Given the description of an element on the screen output the (x, y) to click on. 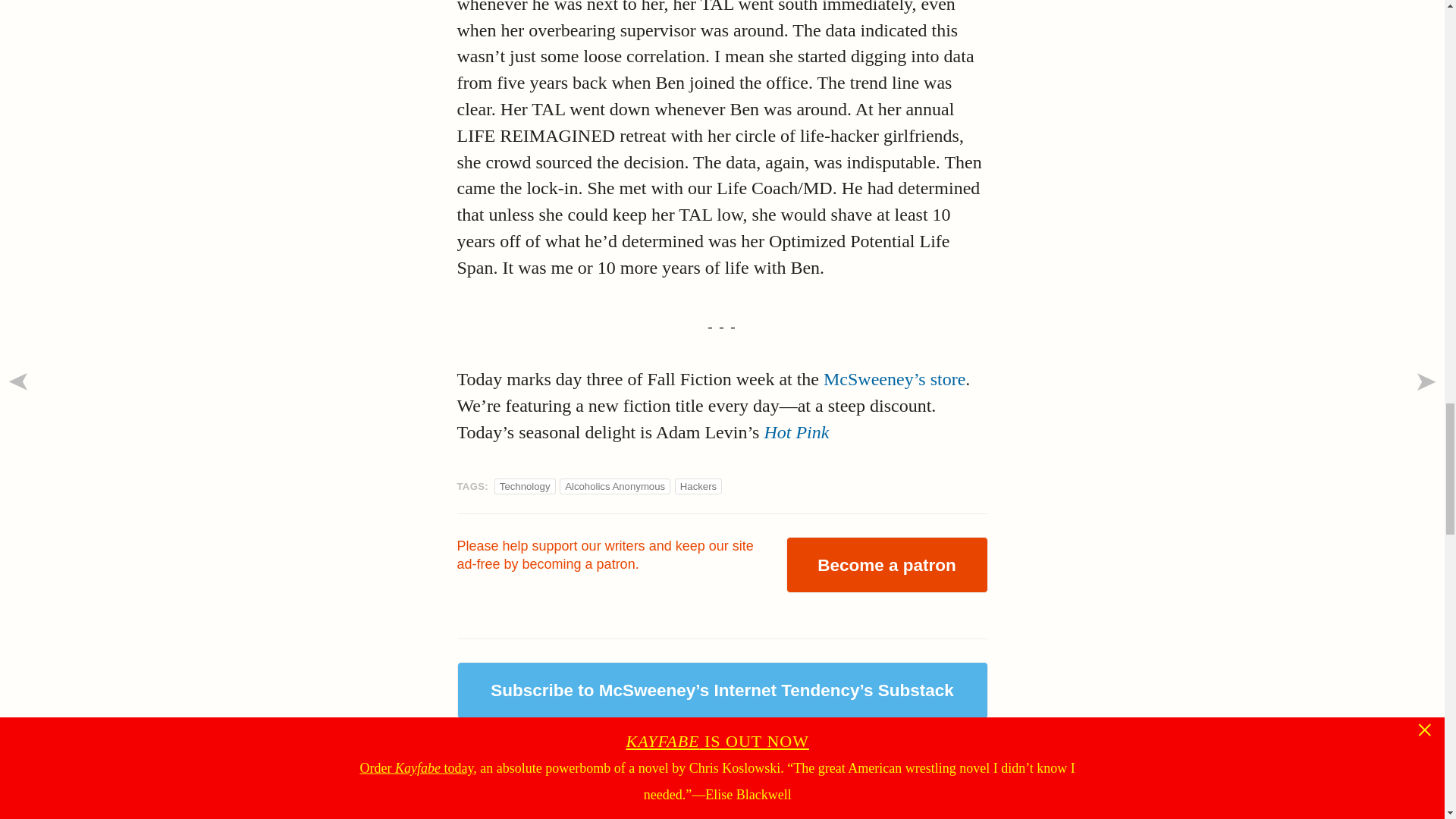
Hot Pink (795, 432)
Become a patron (886, 564)
Alcoholics Anonymous (614, 486)
Technology (524, 486)
Hackers (697, 486)
